Given the description of an element on the screen output the (x, y) to click on. 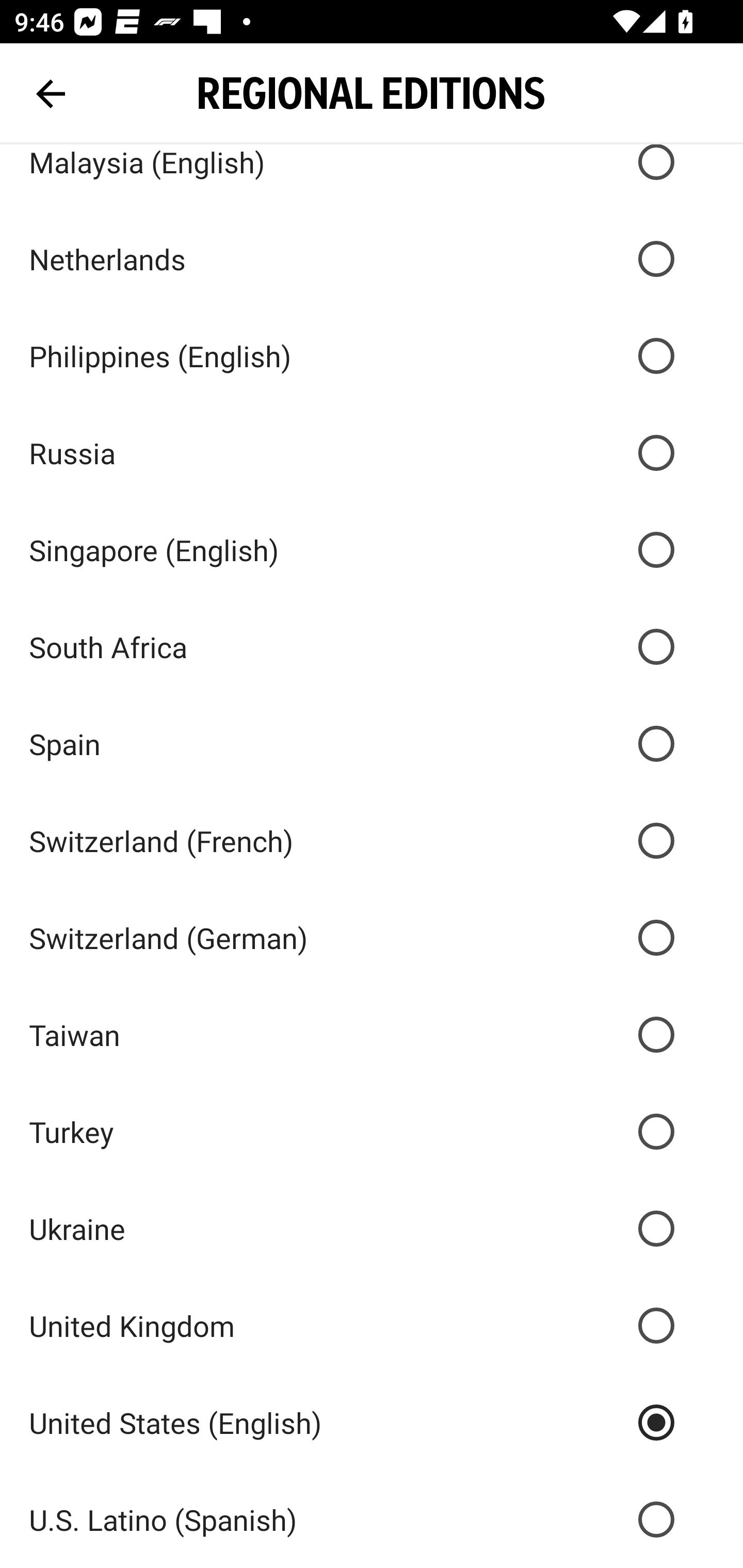
Back (50, 93)
Malaysia (English) (371, 177)
Netherlands (371, 258)
Philippines (English) (371, 355)
Russia (371, 452)
Singapore (English) (371, 549)
South Africa (371, 646)
Spain (371, 742)
Switzerland (French) (371, 840)
Switzerland (German) (371, 937)
Taiwan (371, 1034)
Turkey (371, 1131)
Ukraine (371, 1228)
United Kingdom (371, 1324)
United States (English) (371, 1421)
U.S. Latino (Spanish) (371, 1519)
